Given the description of an element on the screen output the (x, y) to click on. 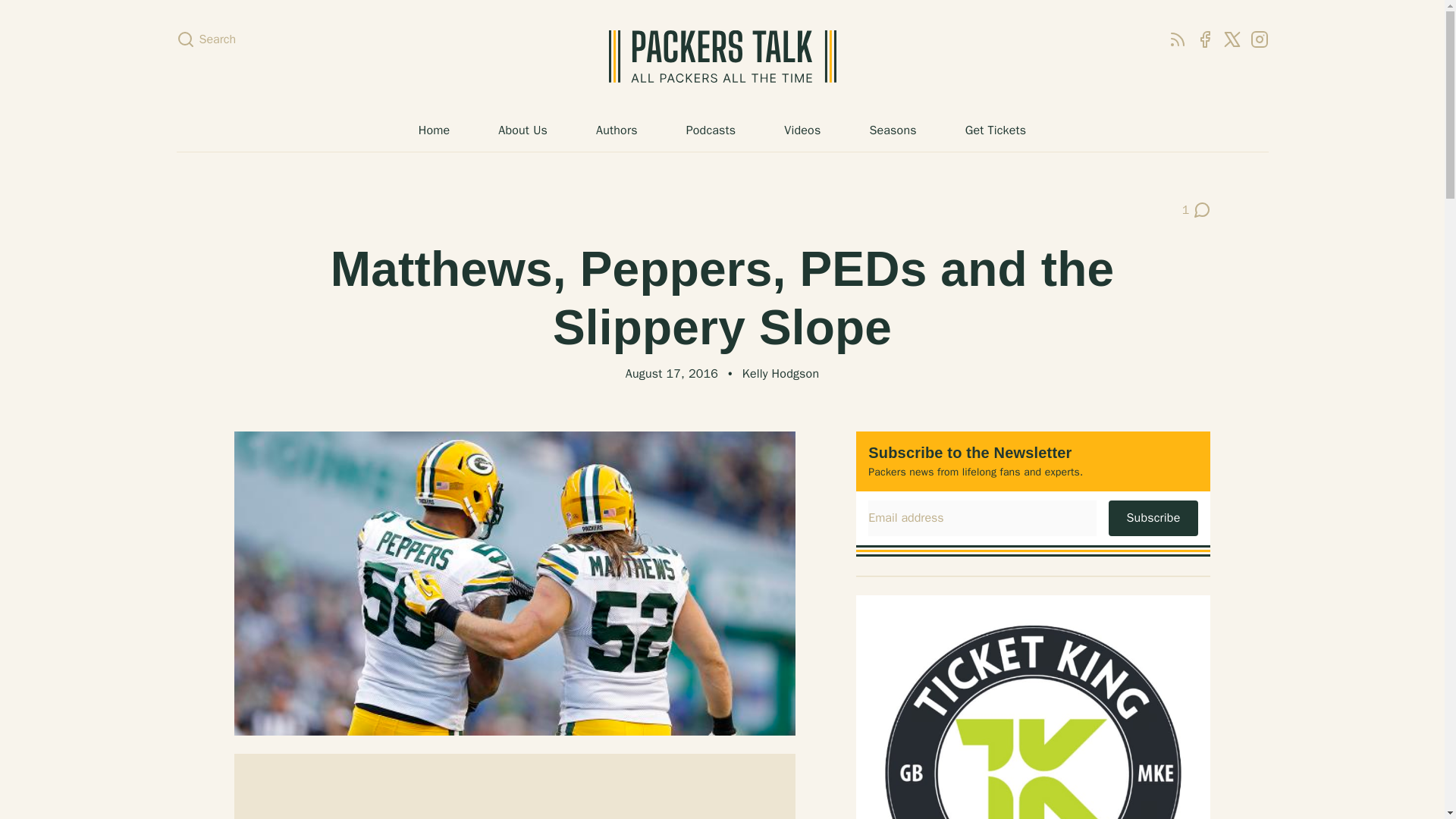
Facebook (1203, 39)
Authors (616, 129)
Comments (1196, 209)
Videos (802, 129)
Get Tickets (995, 129)
PackersTalk RSS Feed (1196, 209)
About Us (1176, 39)
PackersTalk.com Blog Posts and Podcasts (522, 129)
Subscribe (722, 56)
